Given the description of an element on the screen output the (x, y) to click on. 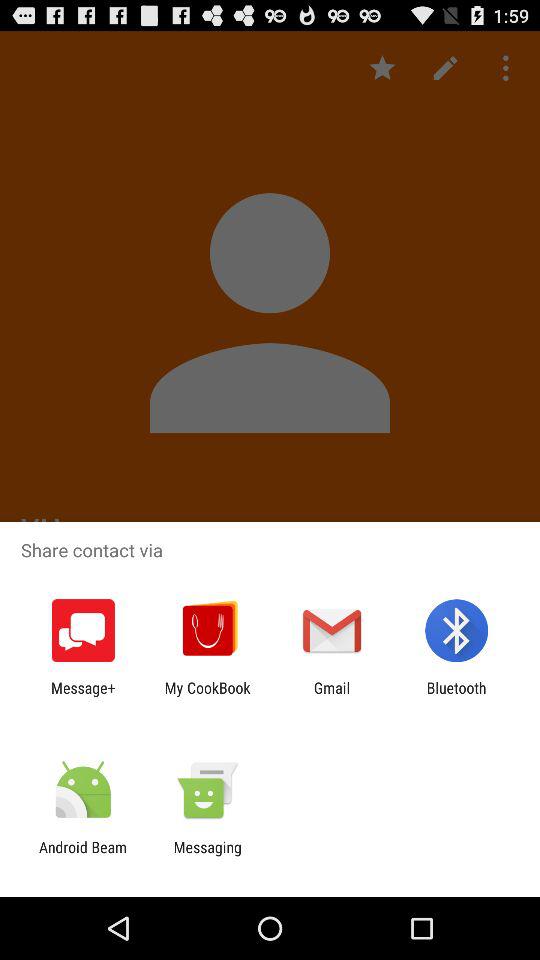
tap the item to the left of bluetooth (331, 696)
